Given the description of an element on the screen output the (x, y) to click on. 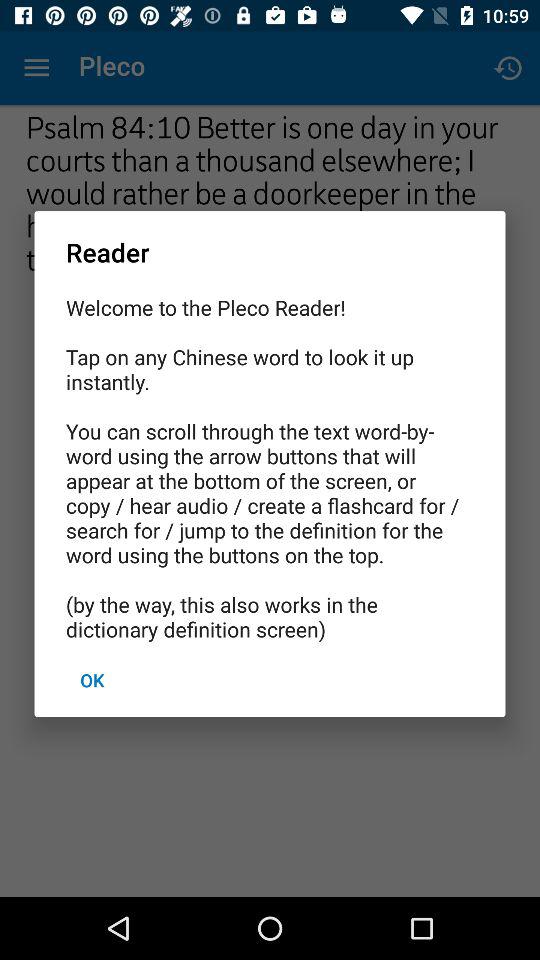
turn off ok at the bottom left corner (92, 679)
